Given the description of an element on the screen output the (x, y) to click on. 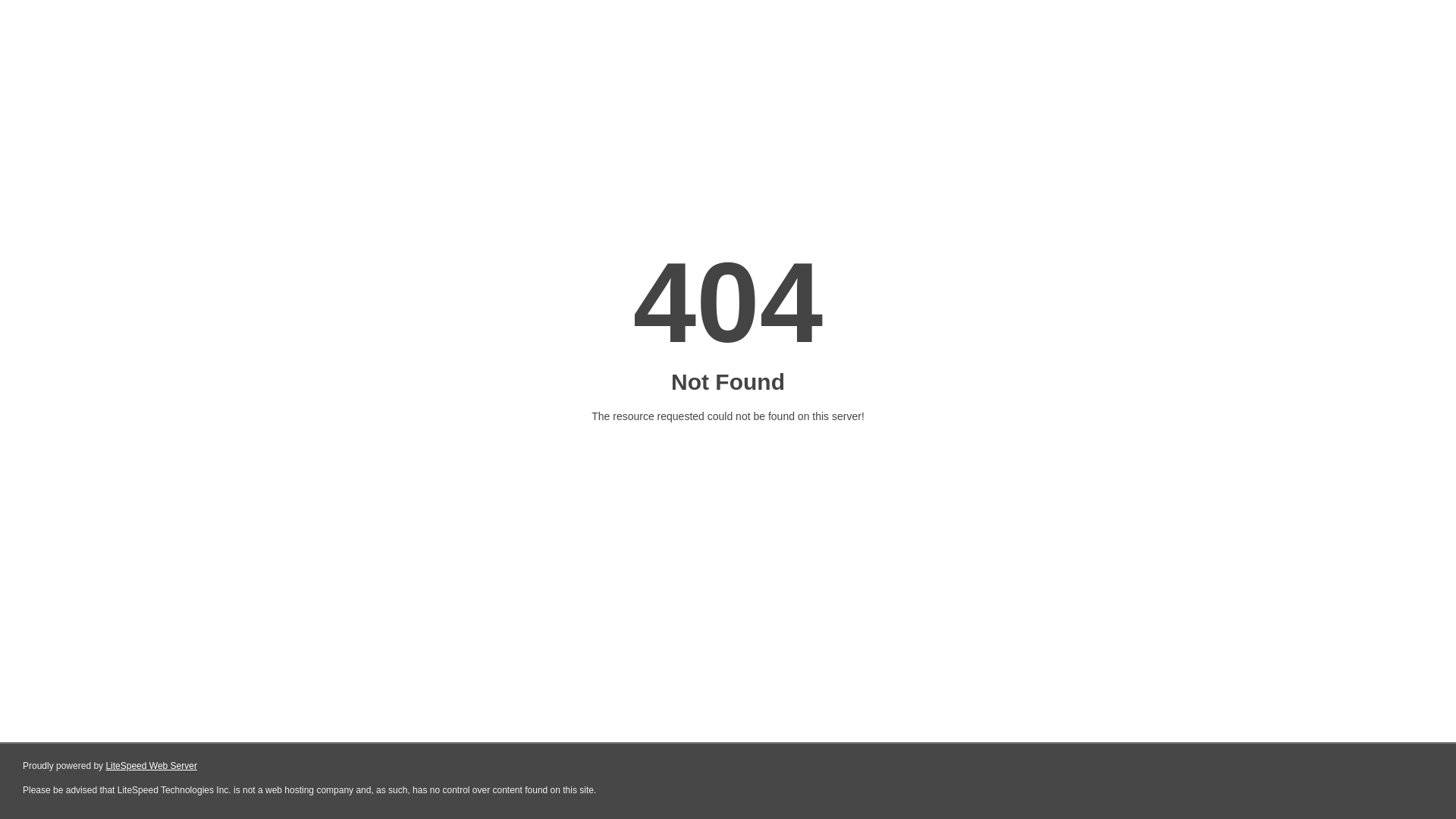
LiteSpeed Web Server Element type: text (151, 765)
